Given the description of an element on the screen output the (x, y) to click on. 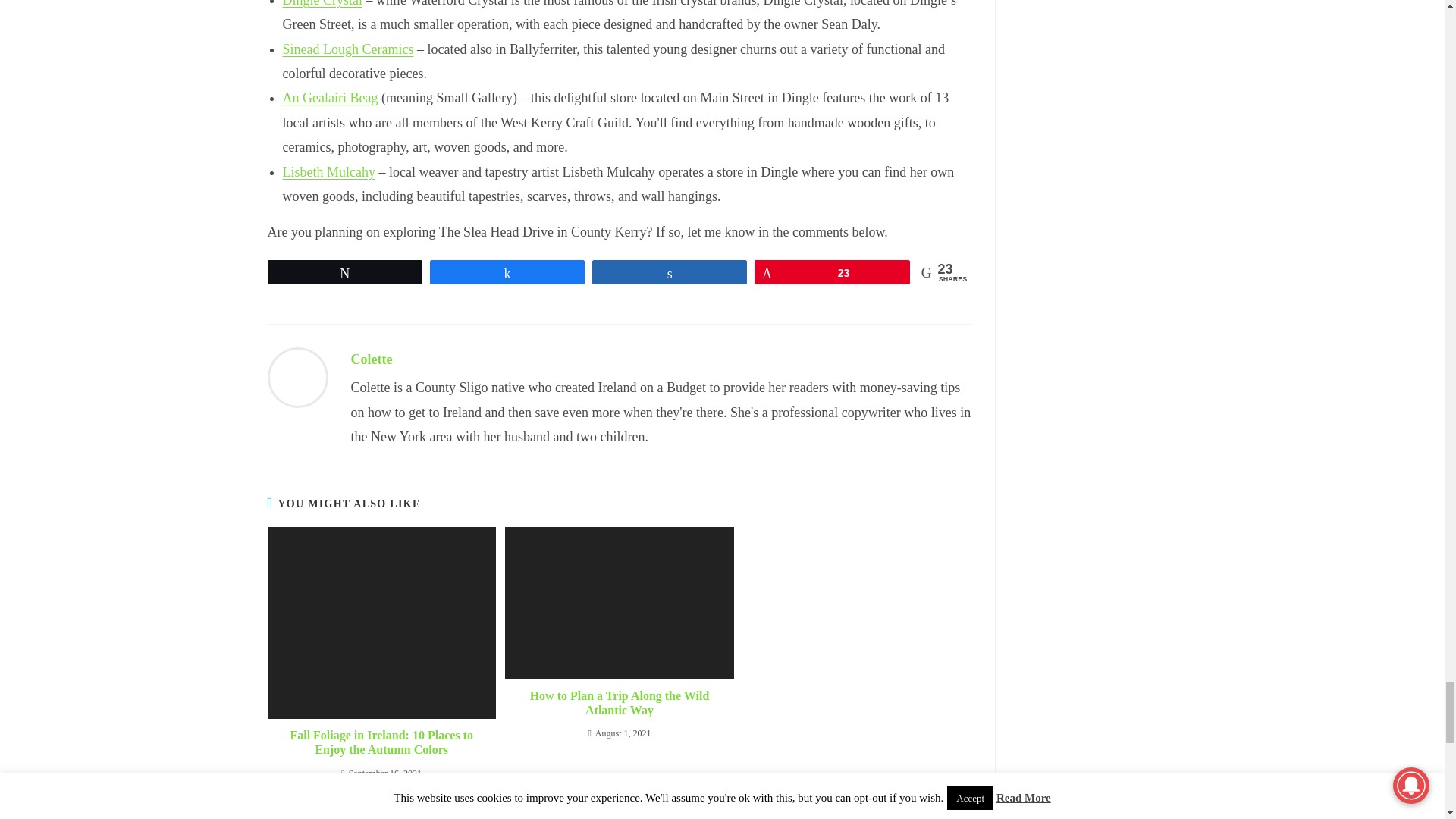
Visit author page (370, 359)
Visit author page (296, 376)
